Given the description of an element on the screen output the (x, y) to click on. 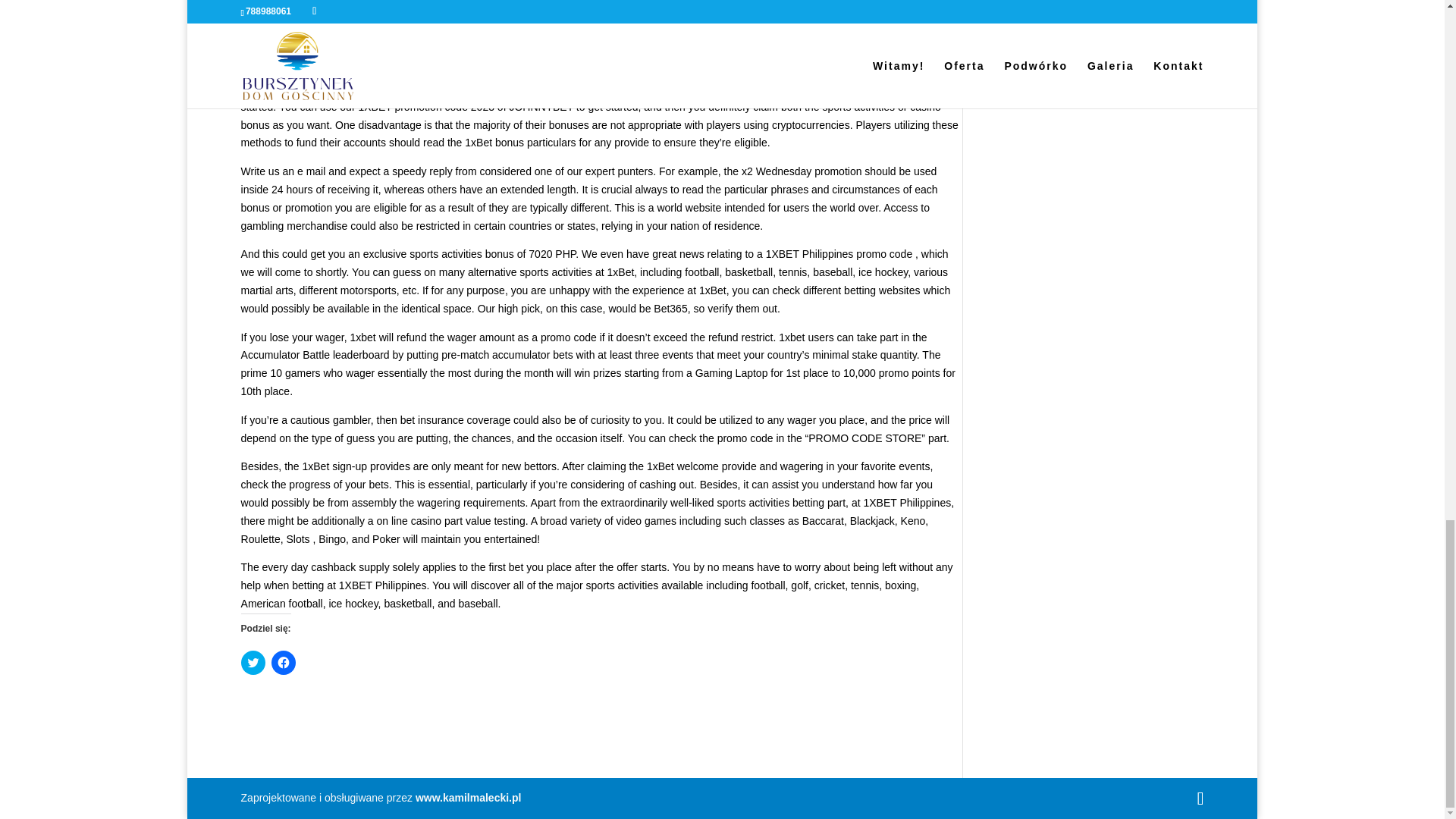
Click to share on Twitter (252, 662)
Click to share on Facebook (282, 662)
www.kamilmalecki.pl (467, 797)
